Given the description of an element on the screen output the (x, y) to click on. 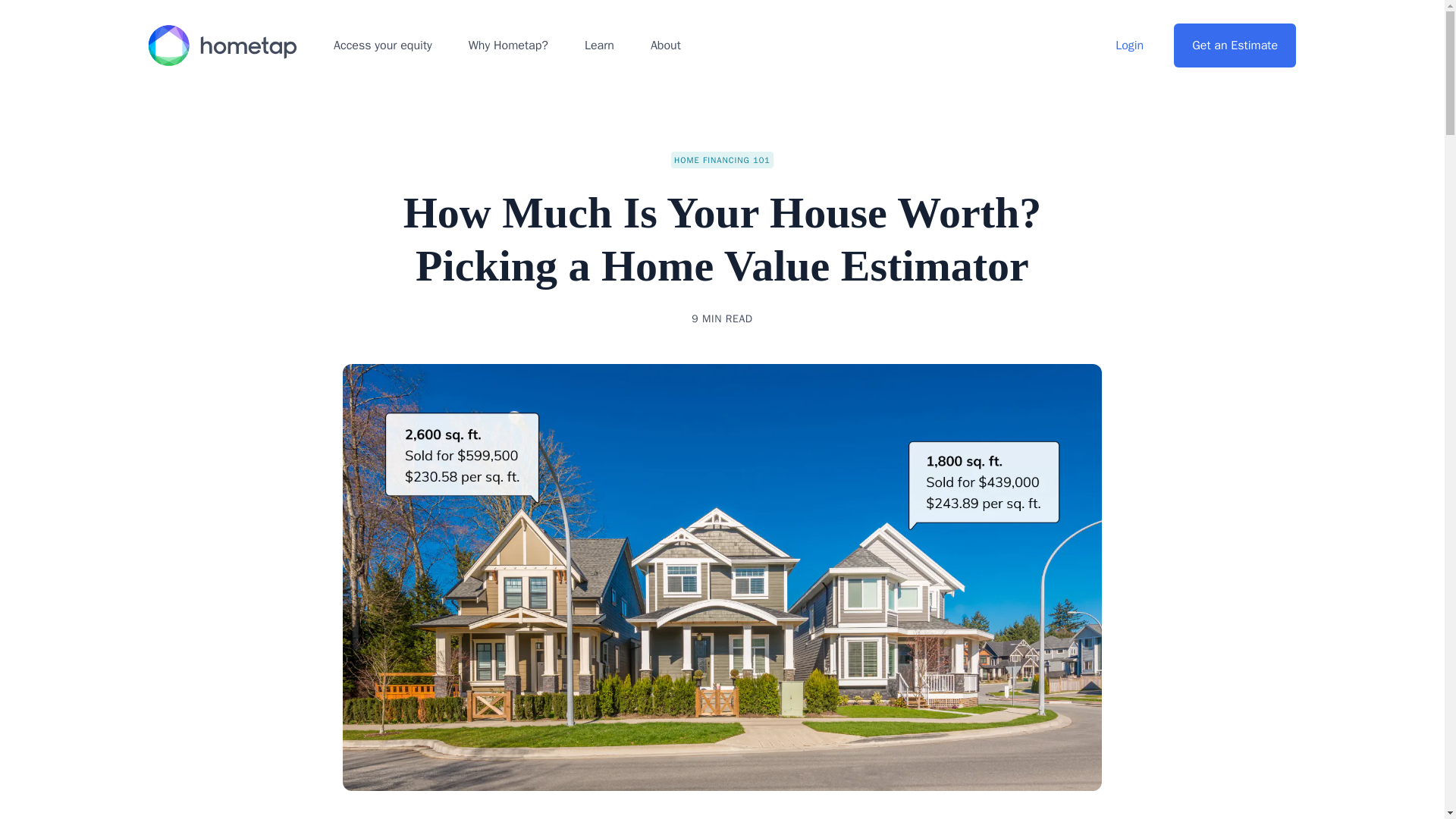
Login (1128, 45)
Access your equity (382, 45)
Why Hometap? (508, 45)
Get an Estimate (1234, 45)
